Given the description of an element on the screen output the (x, y) to click on. 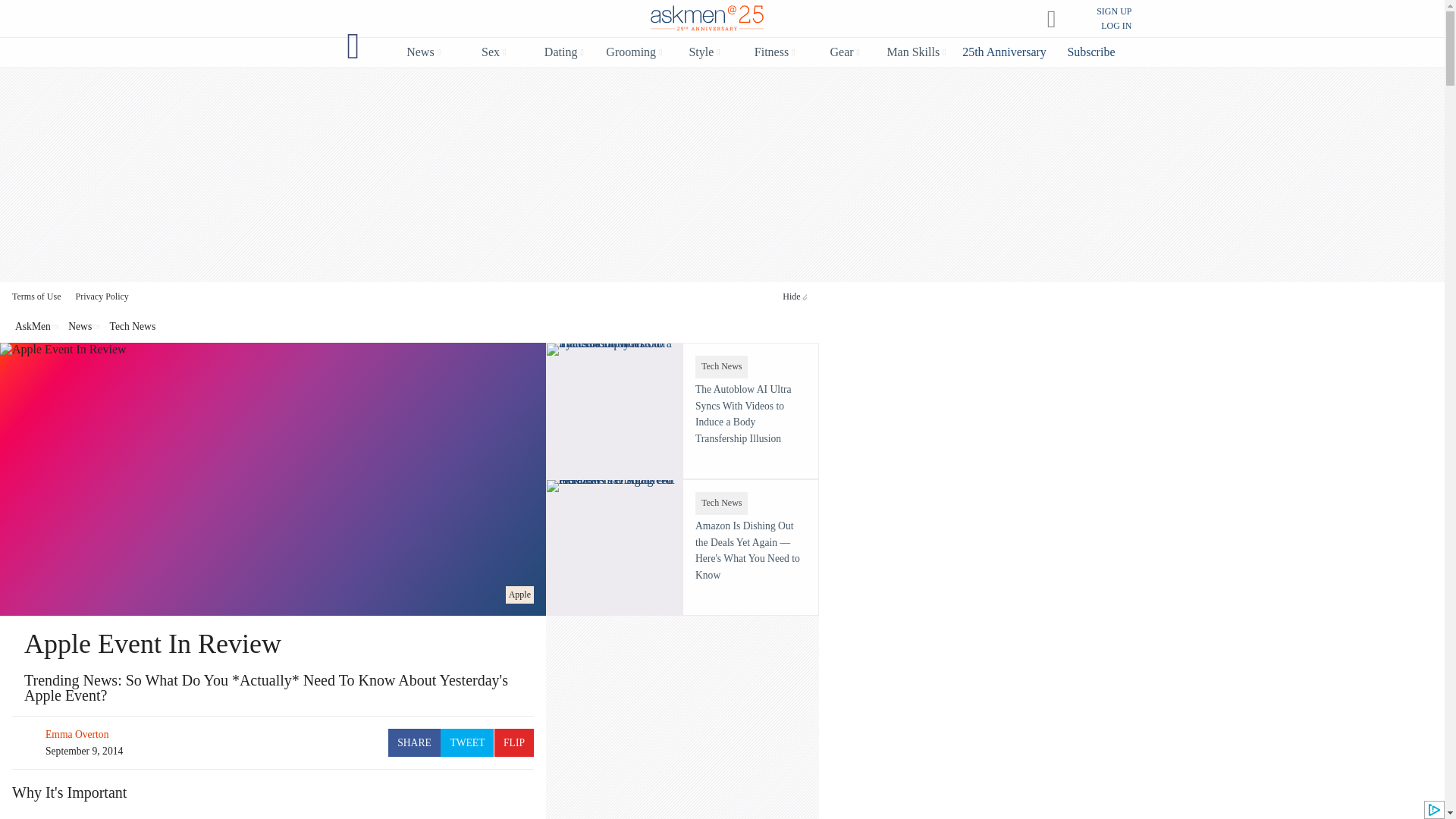
LOG IN (1115, 25)
SIGN UP (1113, 11)
GuyQ (352, 45)
AskMen (706, 20)
